Given the description of an element on the screen output the (x, y) to click on. 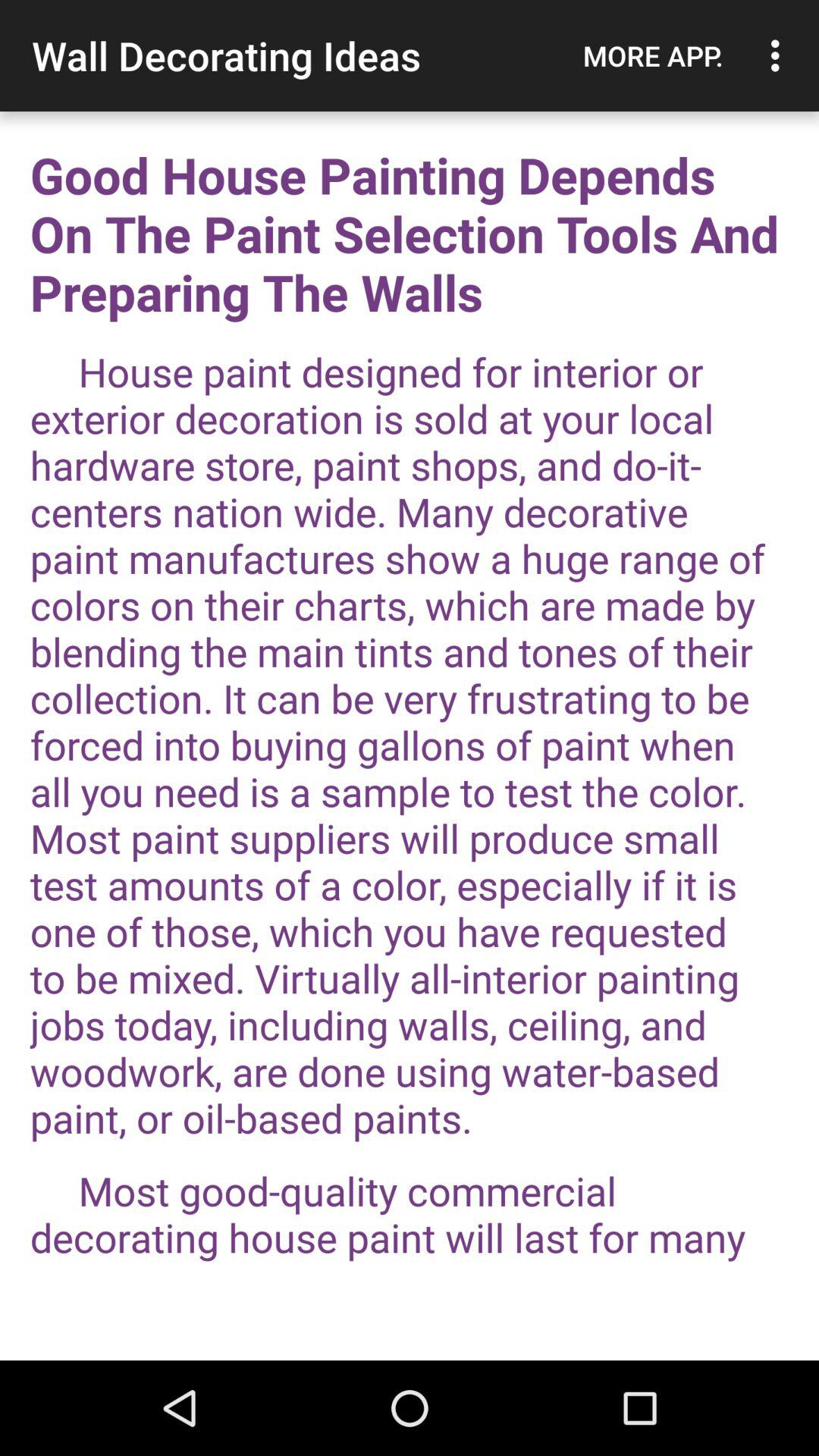
choose the icon next to more app. (779, 55)
